Given the description of an element on the screen output the (x, y) to click on. 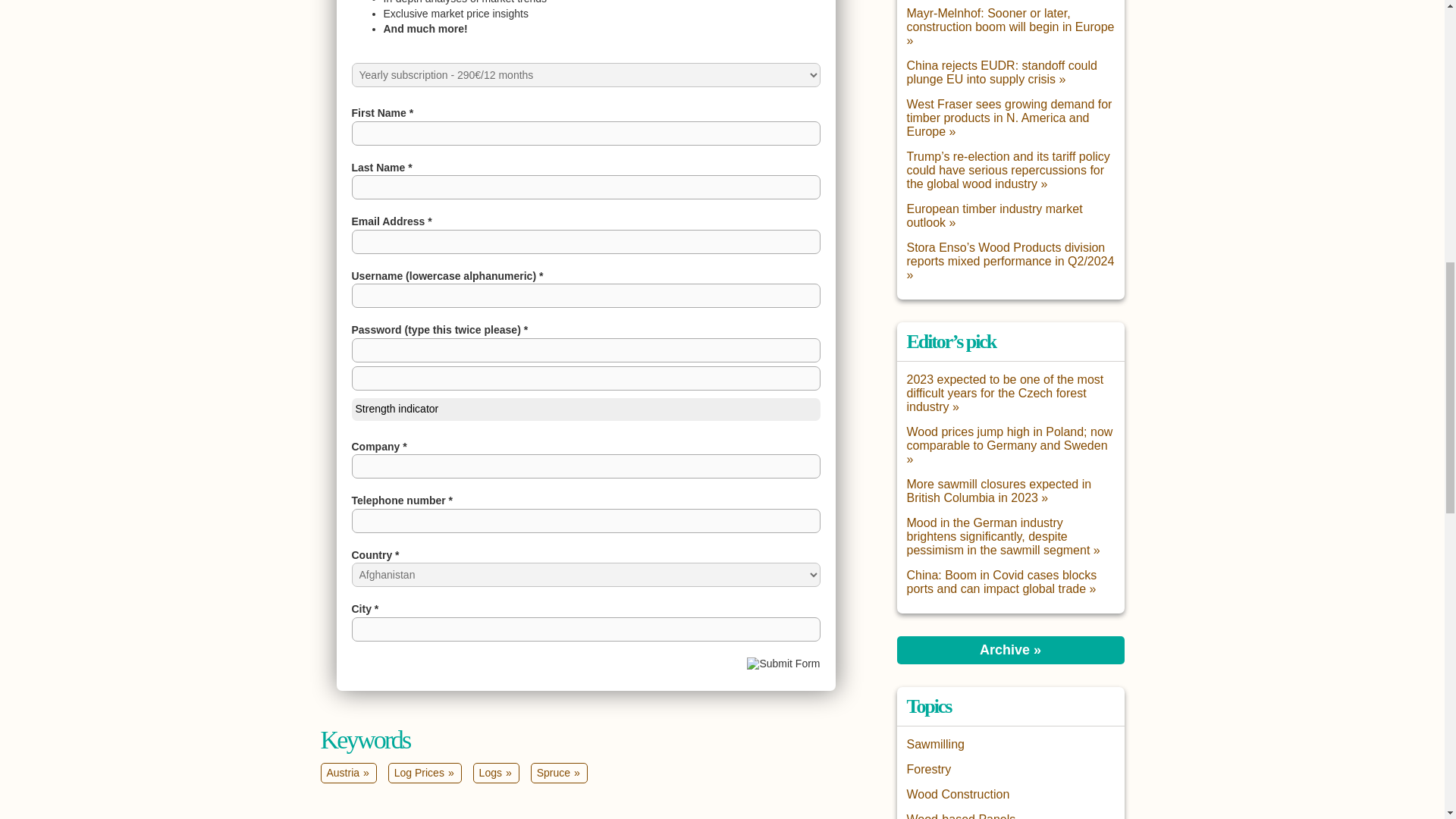
Logs (496, 772)
Austria (347, 772)
Submit Form (782, 663)
Log Prices (424, 772)
Spruce (559, 772)
